Given the description of an element on the screen output the (x, y) to click on. 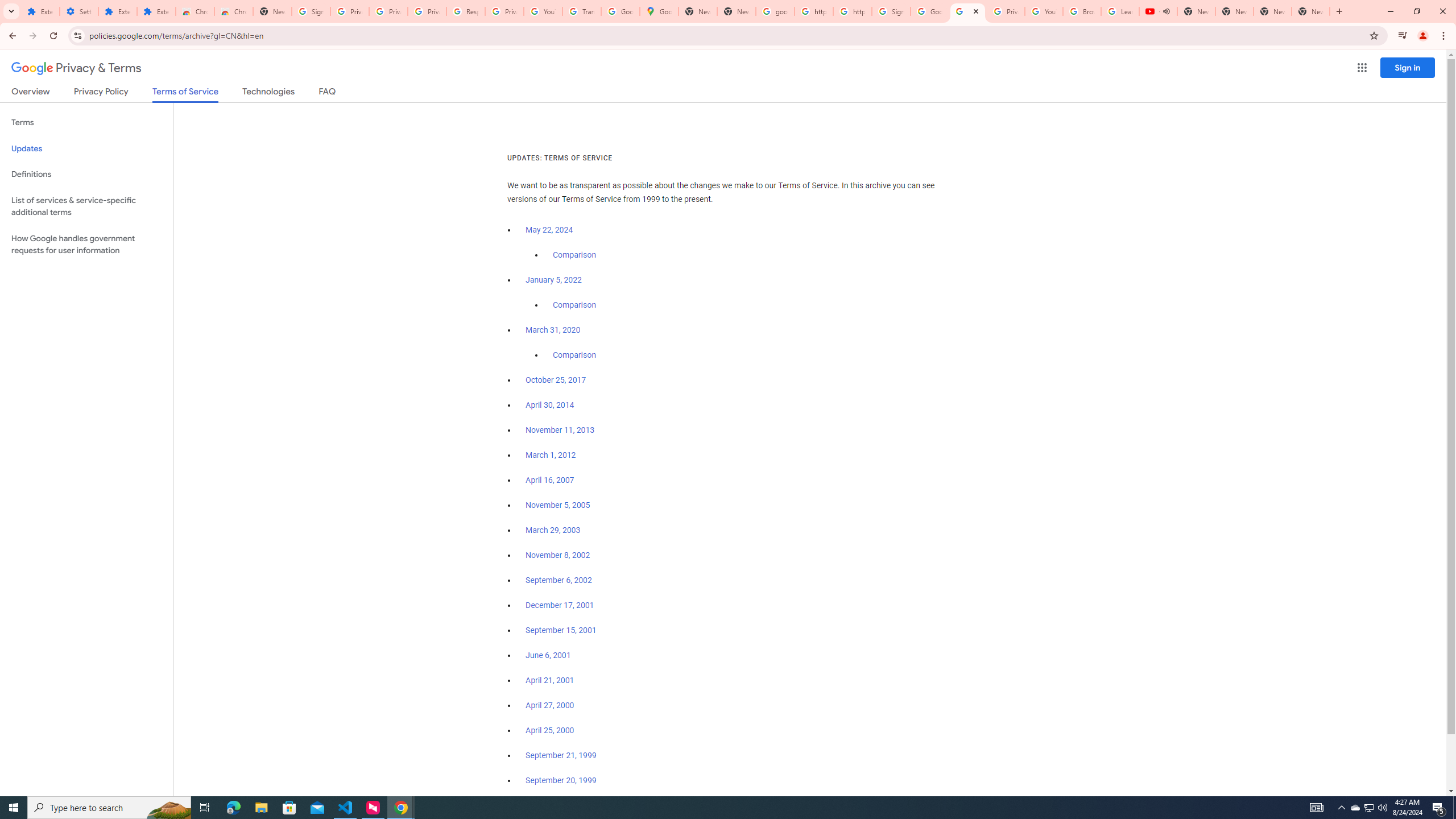
April 25, 2000 (550, 729)
October 25, 2017 (555, 380)
How Google handles government requests for user information (86, 244)
Extensions (117, 11)
June 6, 2001 (547, 655)
